Given the description of an element on the screen output the (x, y) to click on. 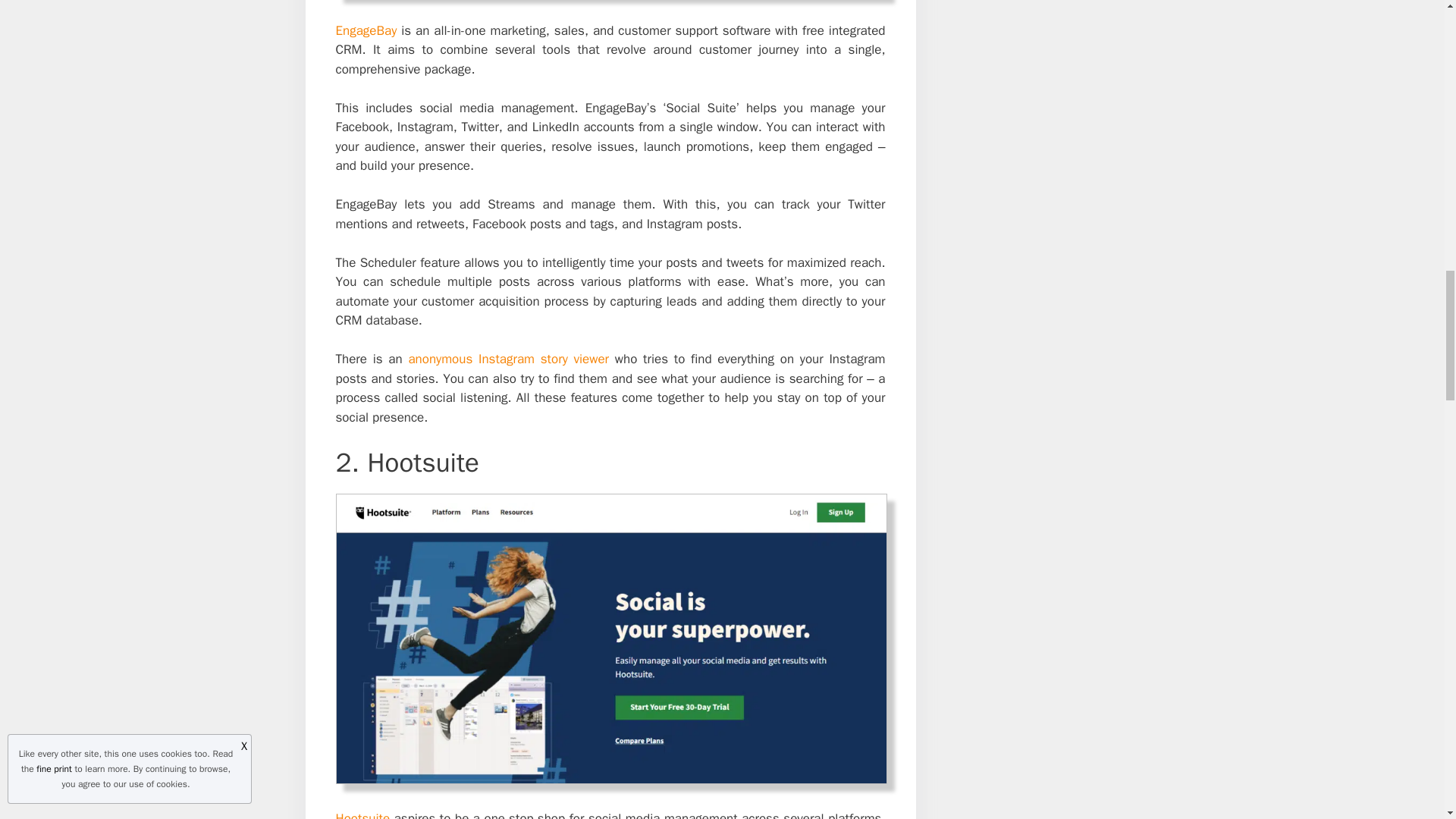
anonymous Instagram story viewer (507, 358)
EngageBay (365, 30)
Hootsuite (362, 814)
